Given the description of an element on the screen output the (x, y) to click on. 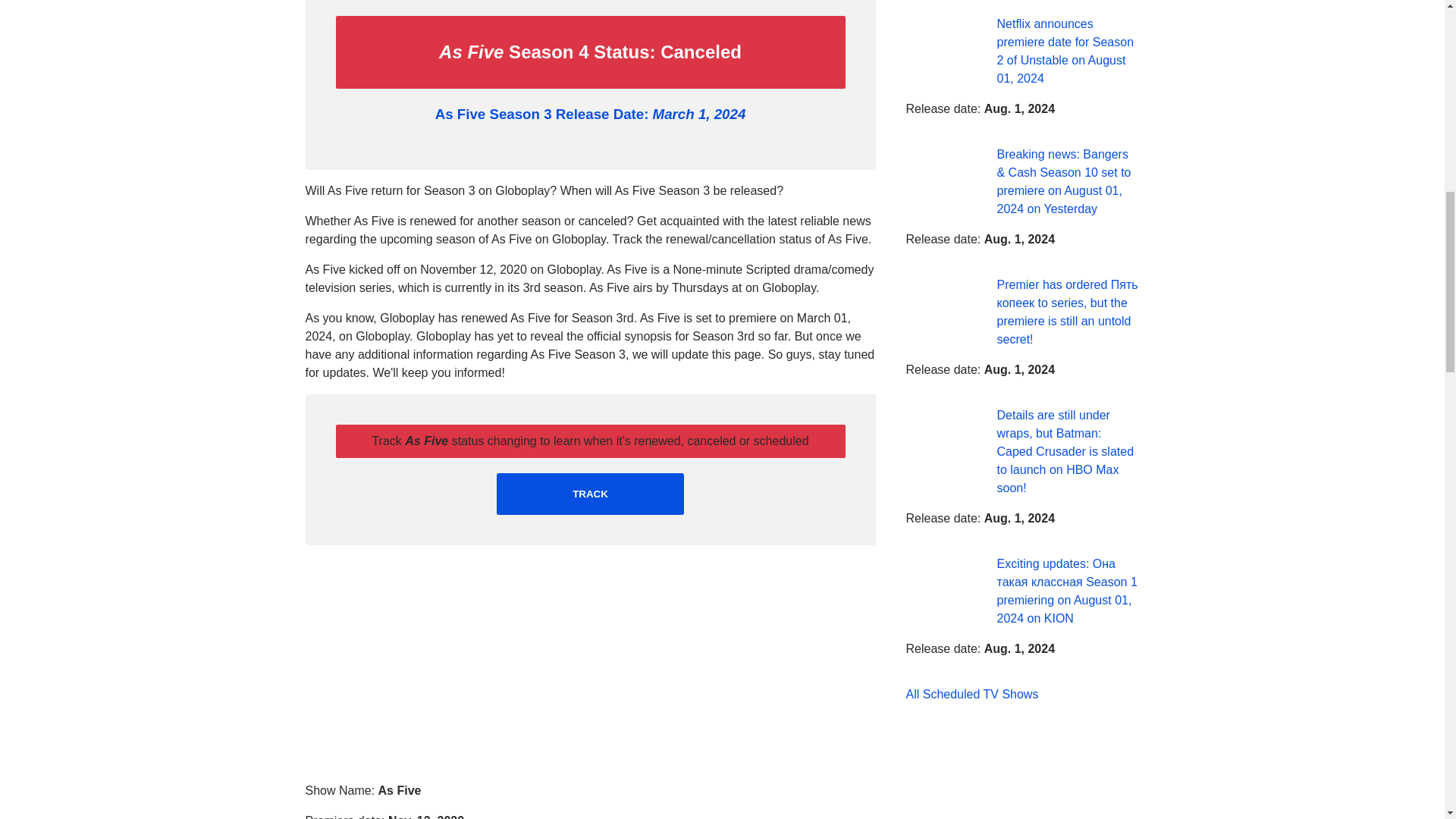
TRACK (590, 494)
